Given the description of an element on the screen output the (x, y) to click on. 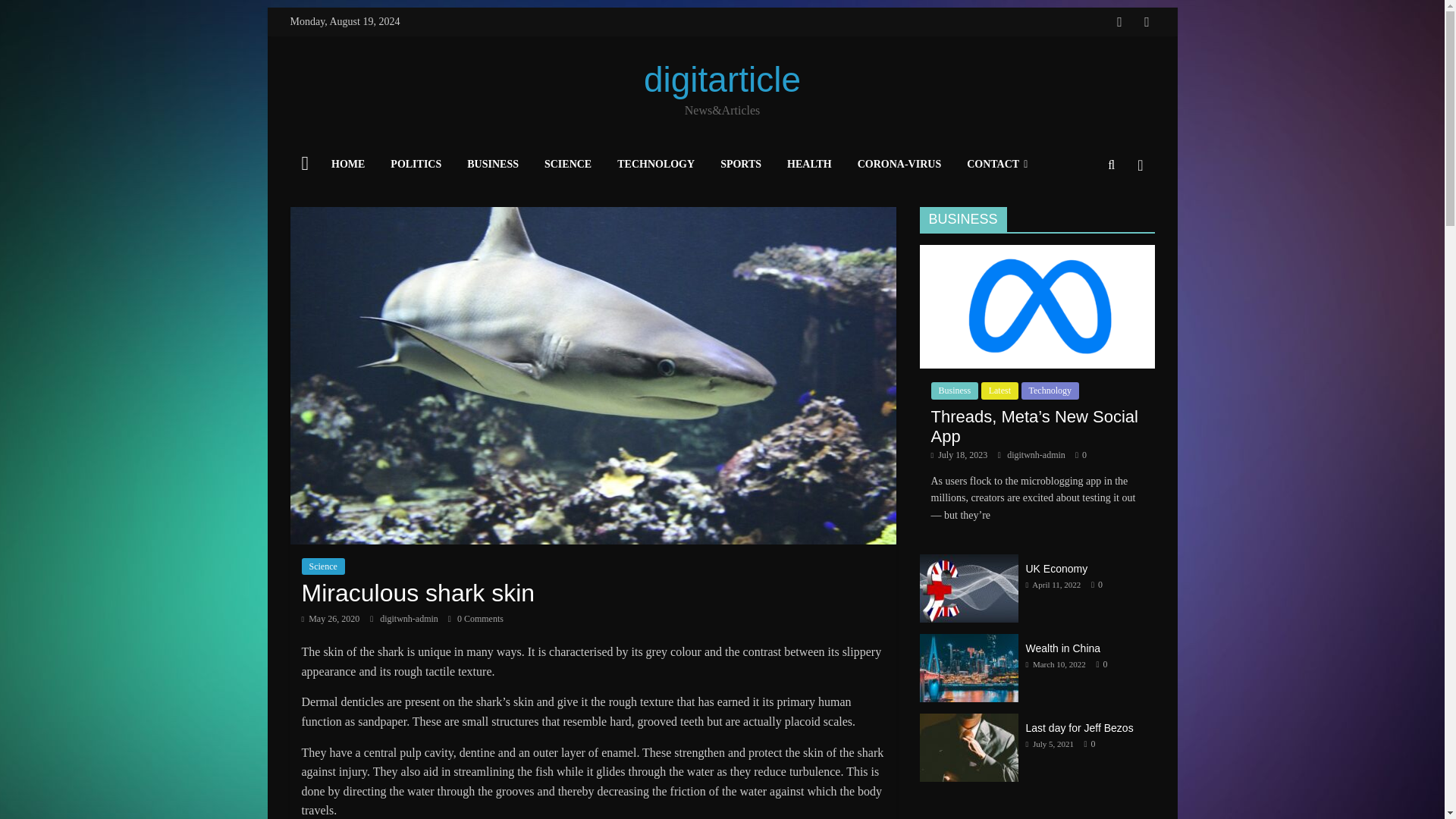
HEALTH (809, 165)
BUSINESS (492, 165)
digitwnh-admin (410, 618)
HOME (348, 165)
May 26, 2020 (330, 618)
Science (323, 565)
TECHNOLOGY (655, 165)
digitarticle (721, 79)
digitwnh-admin (410, 618)
